Given the description of an element on the screen output the (x, y) to click on. 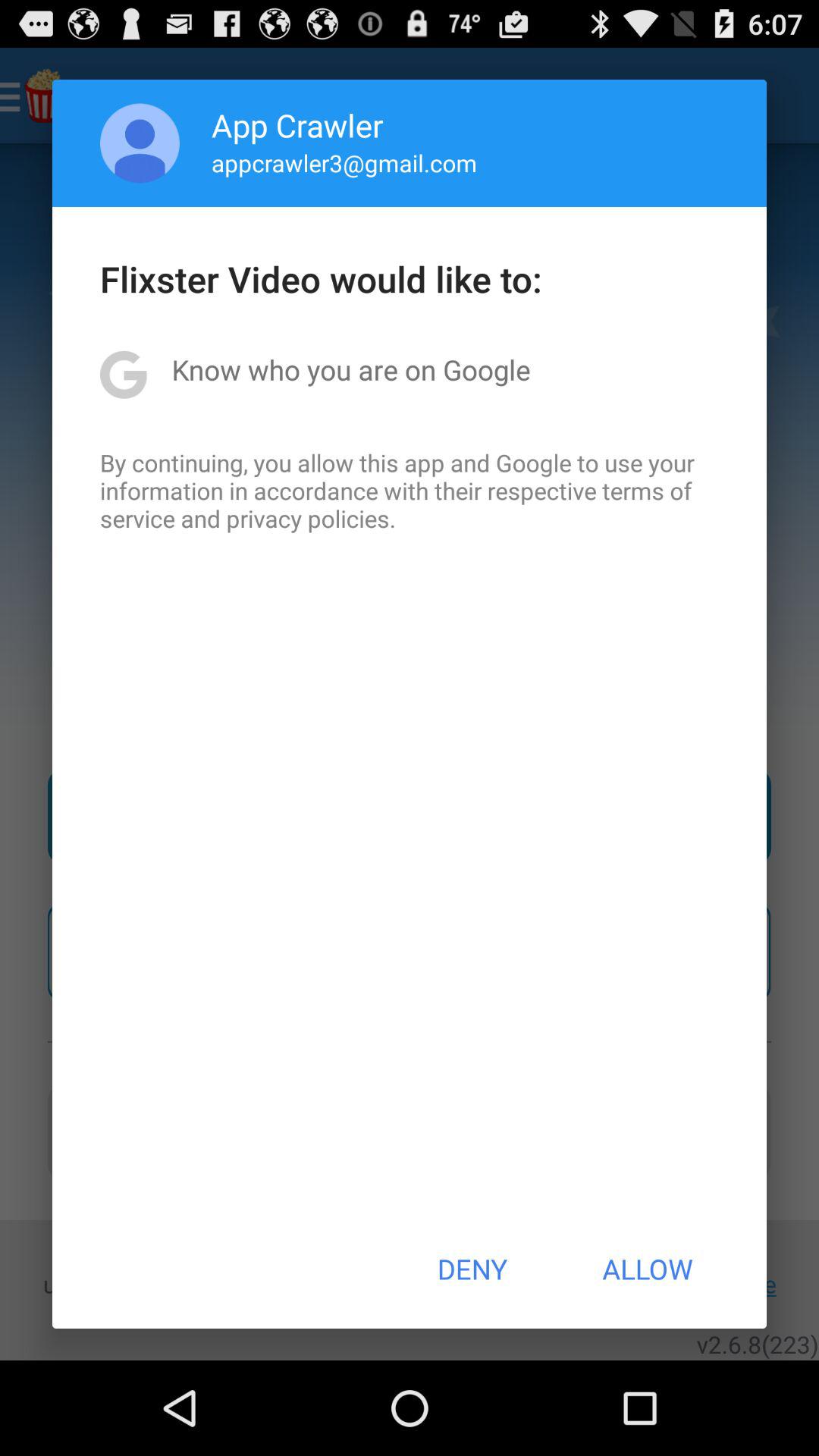
choose the deny button (471, 1268)
